Given the description of an element on the screen output the (x, y) to click on. 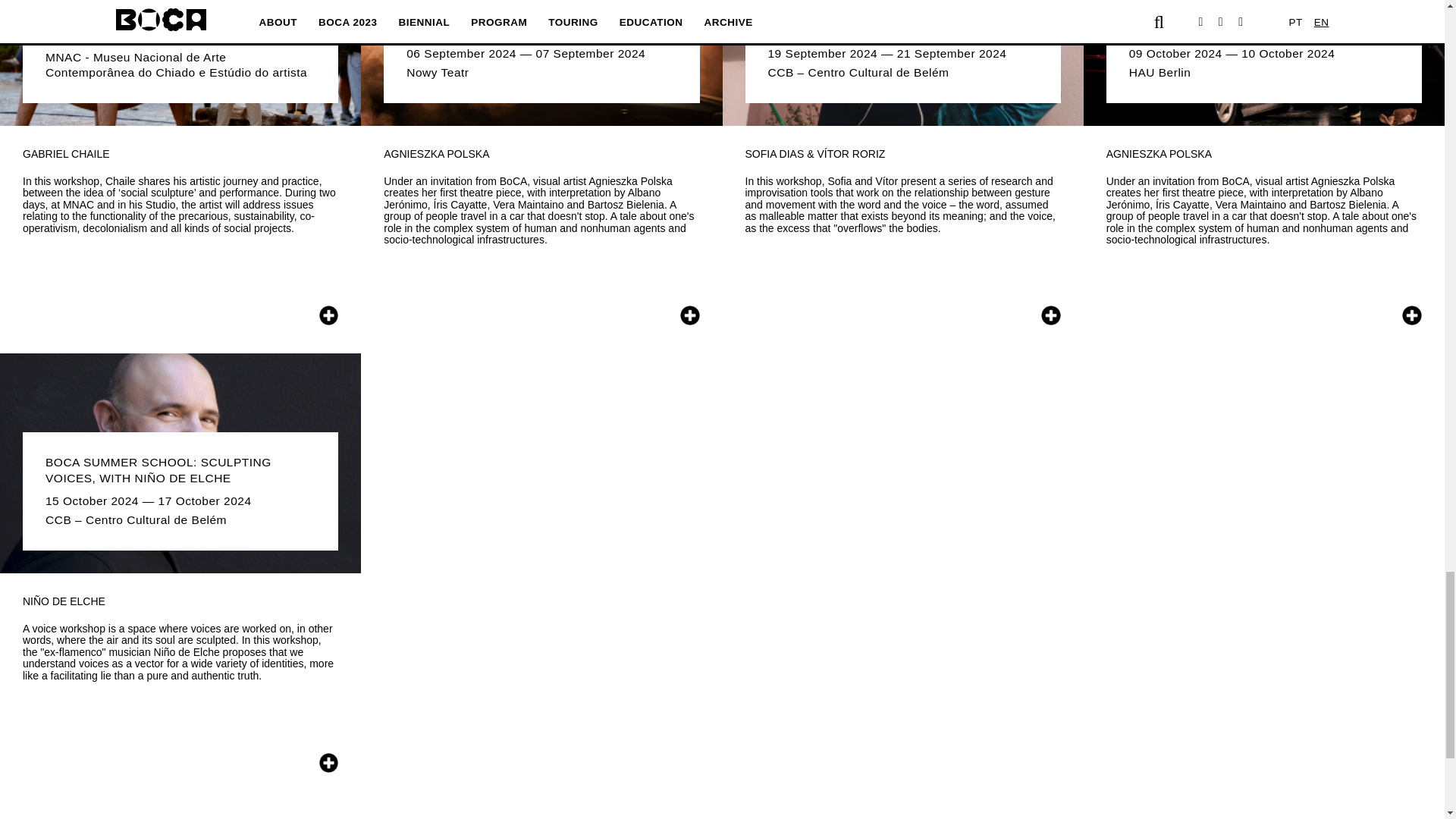
The Talking Car (541, 63)
